Given the description of an element on the screen output the (x, y) to click on. 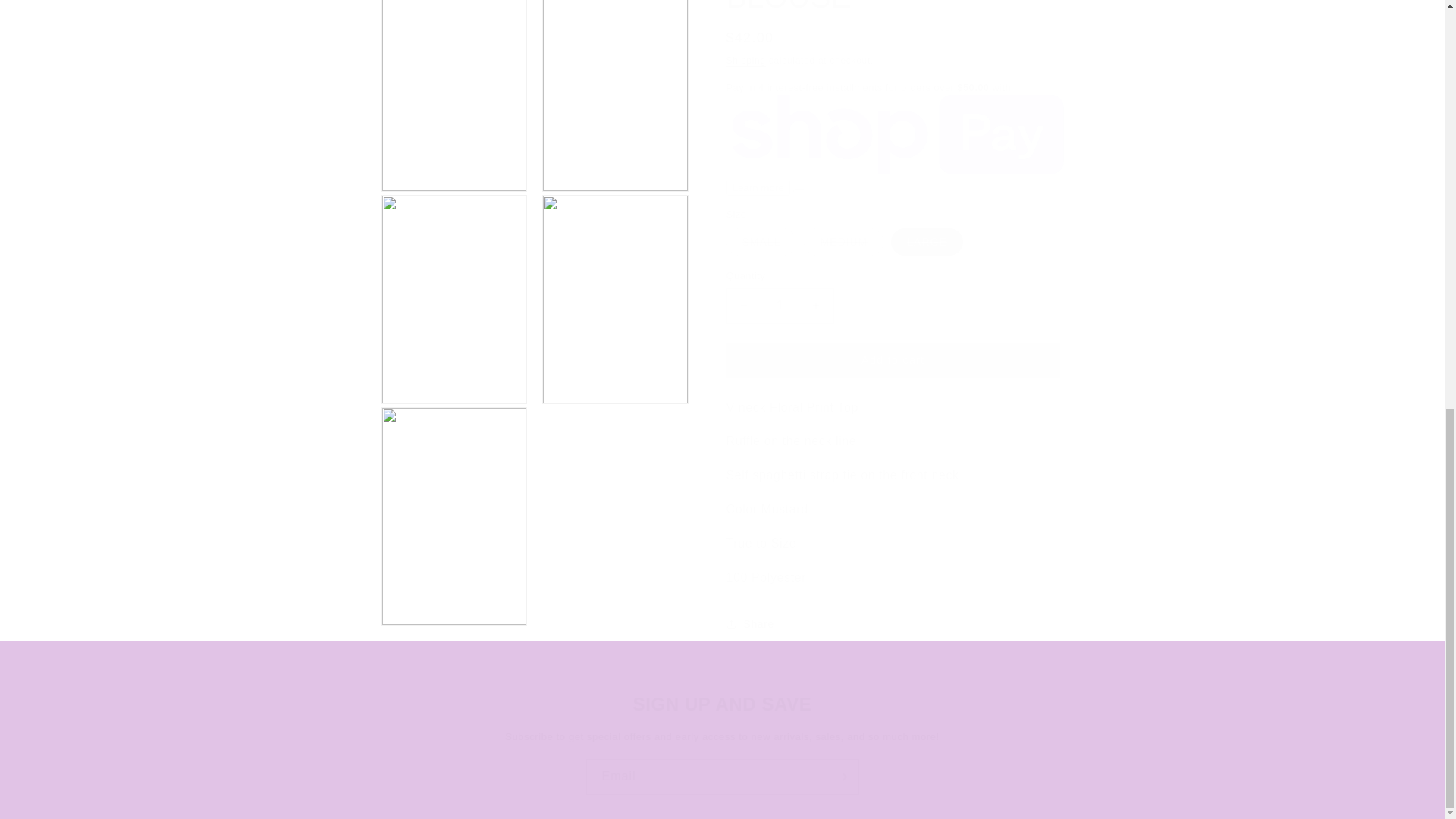
SIGN UP AND SAVE (721, 703)
Email (722, 776)
